Given the description of an element on the screen output the (x, y) to click on. 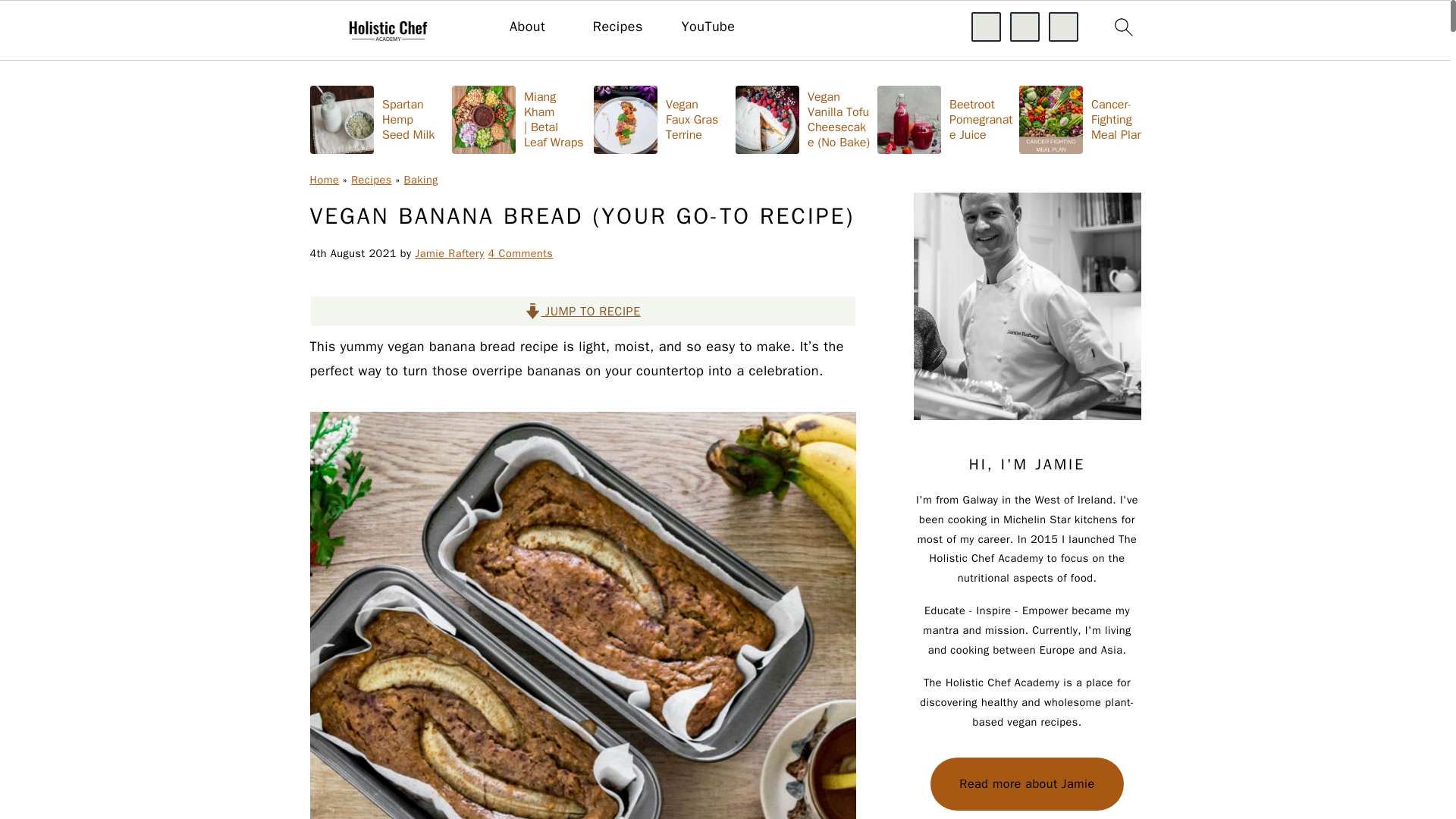
search icon (1122, 26)
Spartan Hemp Seed Milk (376, 118)
YouTube (708, 27)
Home (323, 179)
Baking (421, 179)
About (526, 27)
Recipes (370, 179)
Vegan Faux Gras Terrine (660, 118)
Beetroot Pomegranate Juice (944, 118)
Cancer-Fighting Meal Plan (1087, 118)
Tamarind Dressing (1371, 118)
Recipes (617, 27)
